Given the description of an element on the screen output the (x, y) to click on. 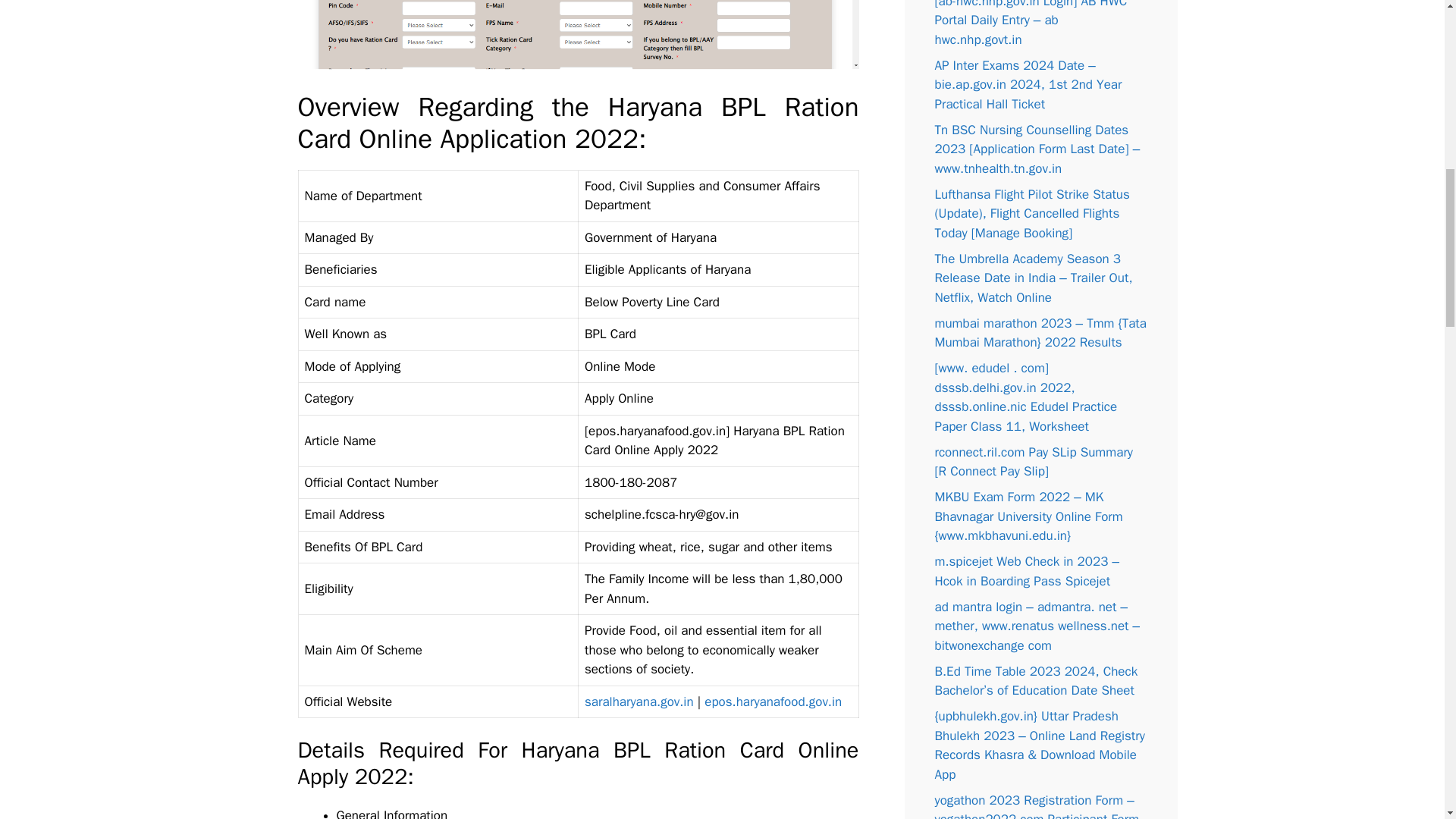
Scroll back to top (1406, 720)
